Given the description of an element on the screen output the (x, y) to click on. 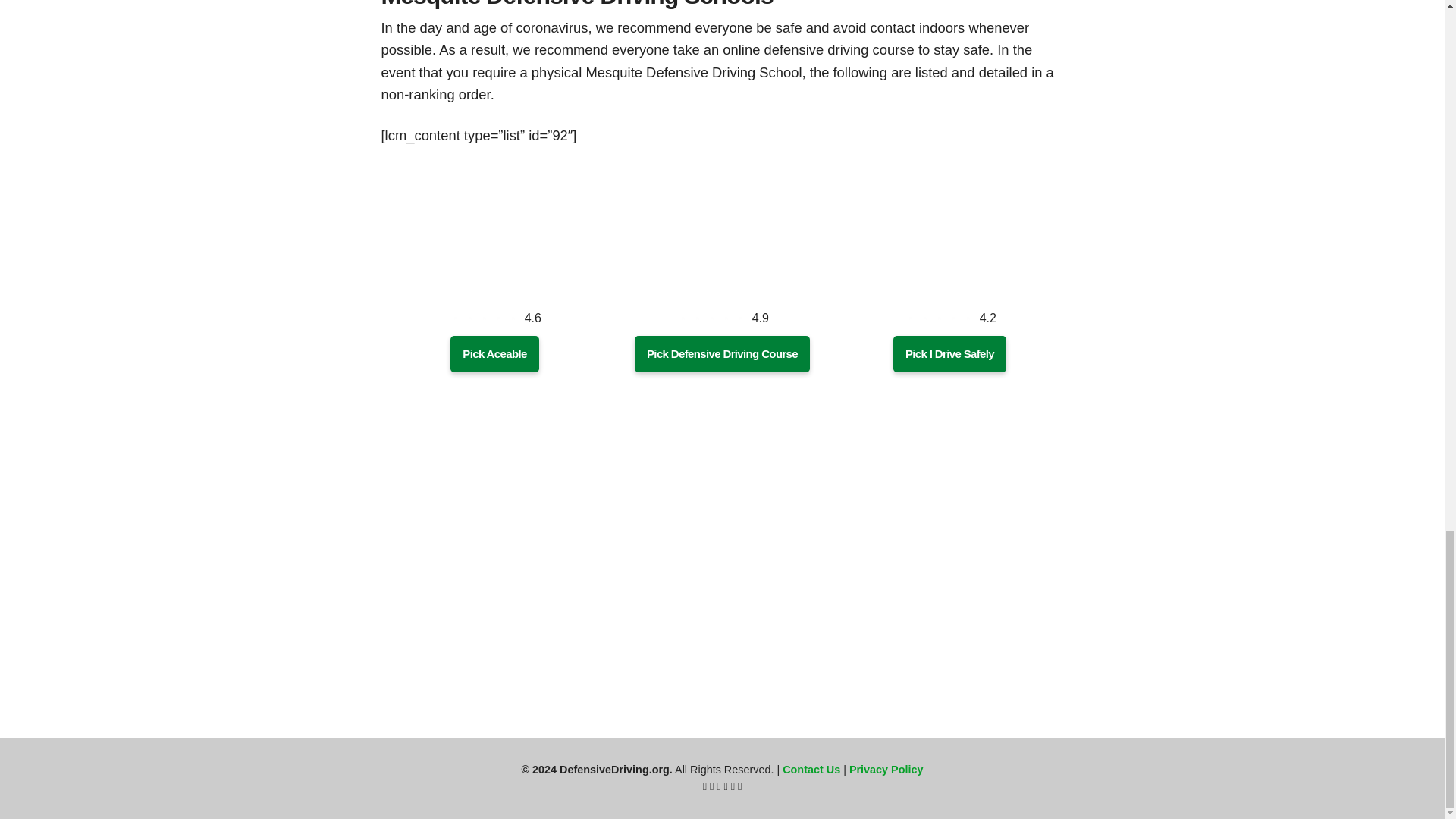
Pick Aceable (493, 353)
I Drive Safely (949, 289)
Privacy Policy (885, 769)
Pick I Drive Safely (949, 353)
DefensiveDrivingCourse.com (722, 289)
Aceable (494, 289)
Contact Us (811, 769)
Pick Defensive Driving Course (721, 353)
